Given the description of an element on the screen output the (x, y) to click on. 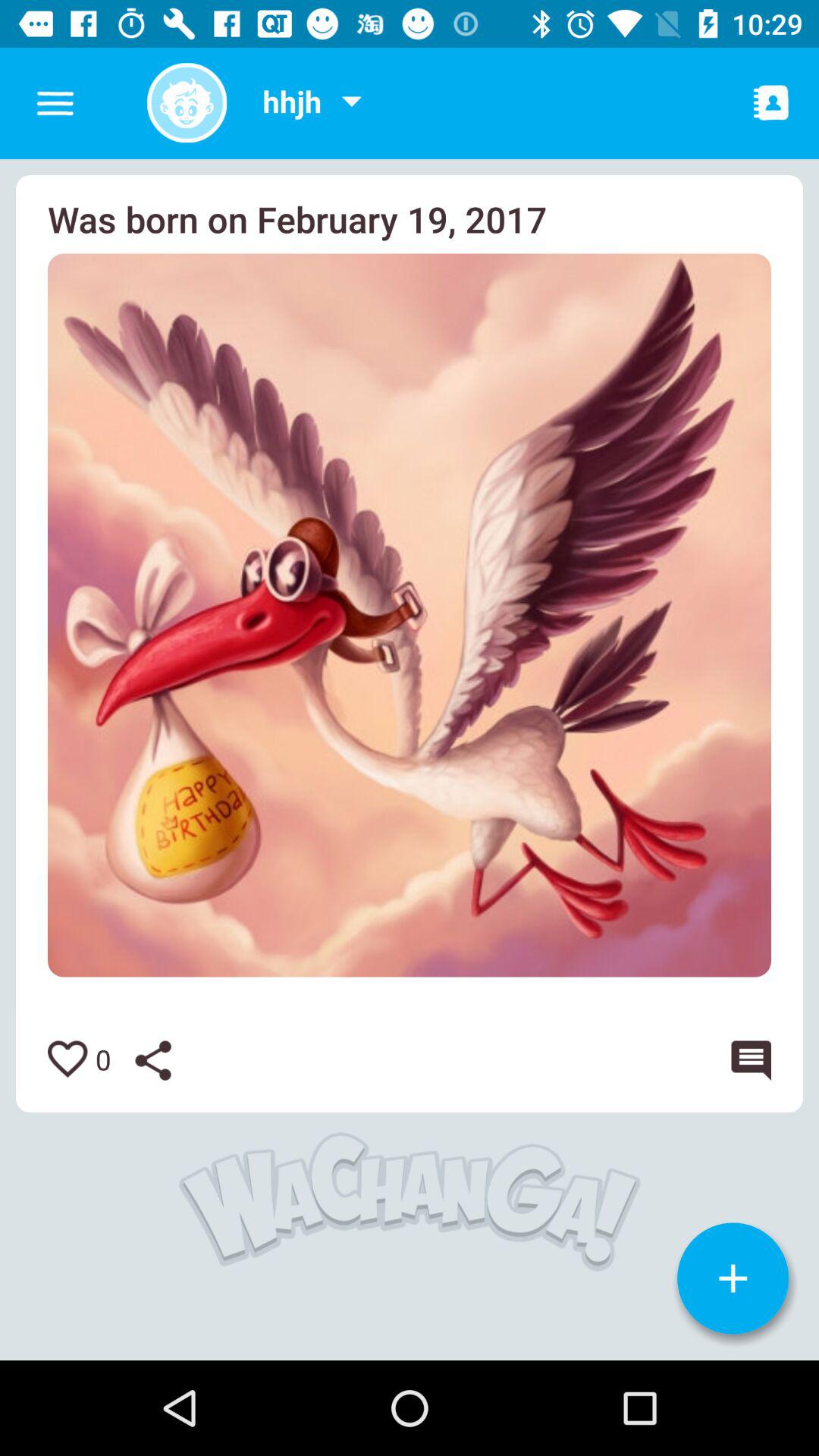
go to contacts (771, 102)
